Given the description of an element on the screen output the (x, y) to click on. 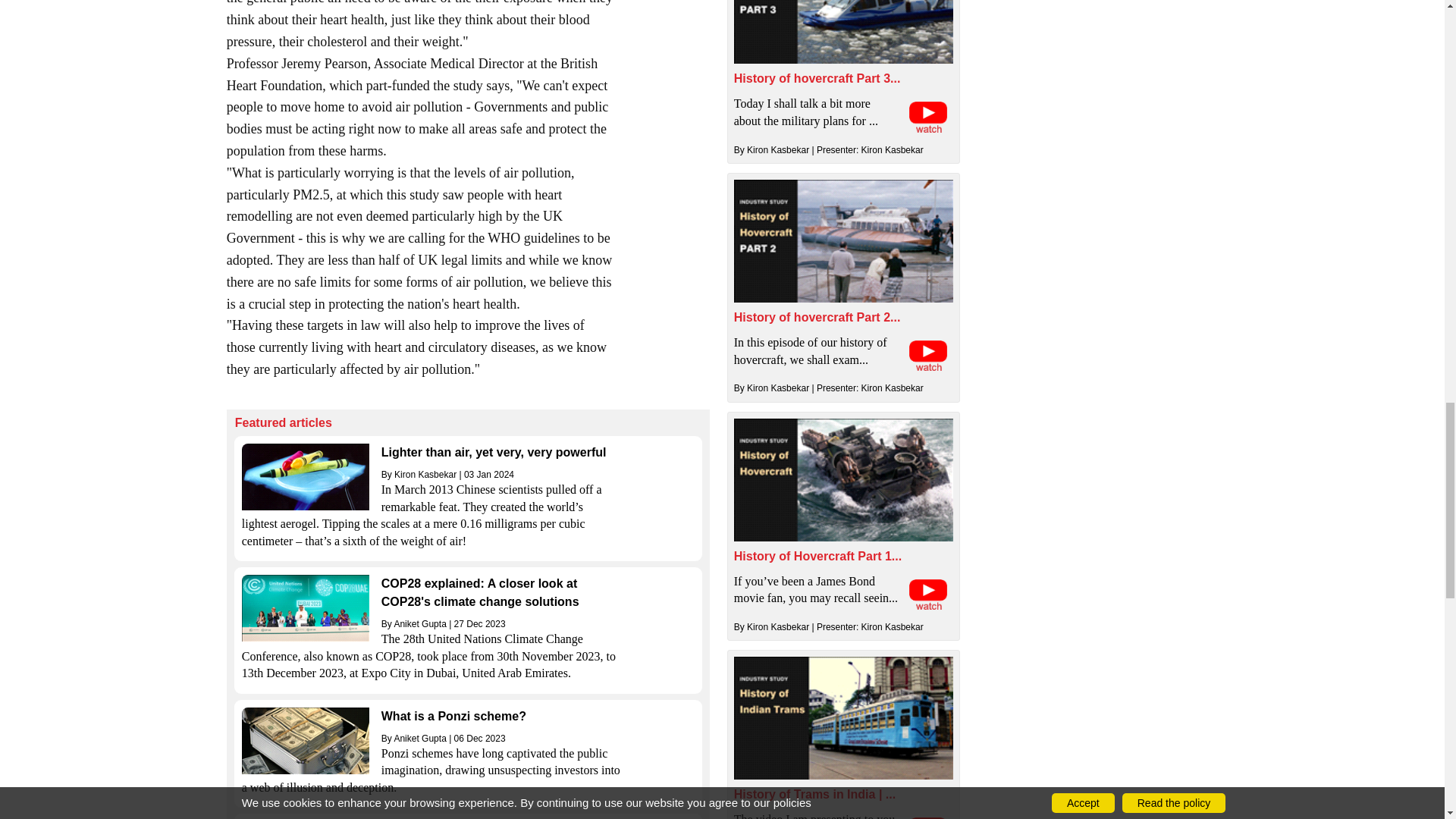
Click here to watch on YouTube (927, 355)
Click here to watch on YouTube (927, 116)
Click here to watch on YouTube (927, 594)
